Given the description of an element on the screen output the (x, y) to click on. 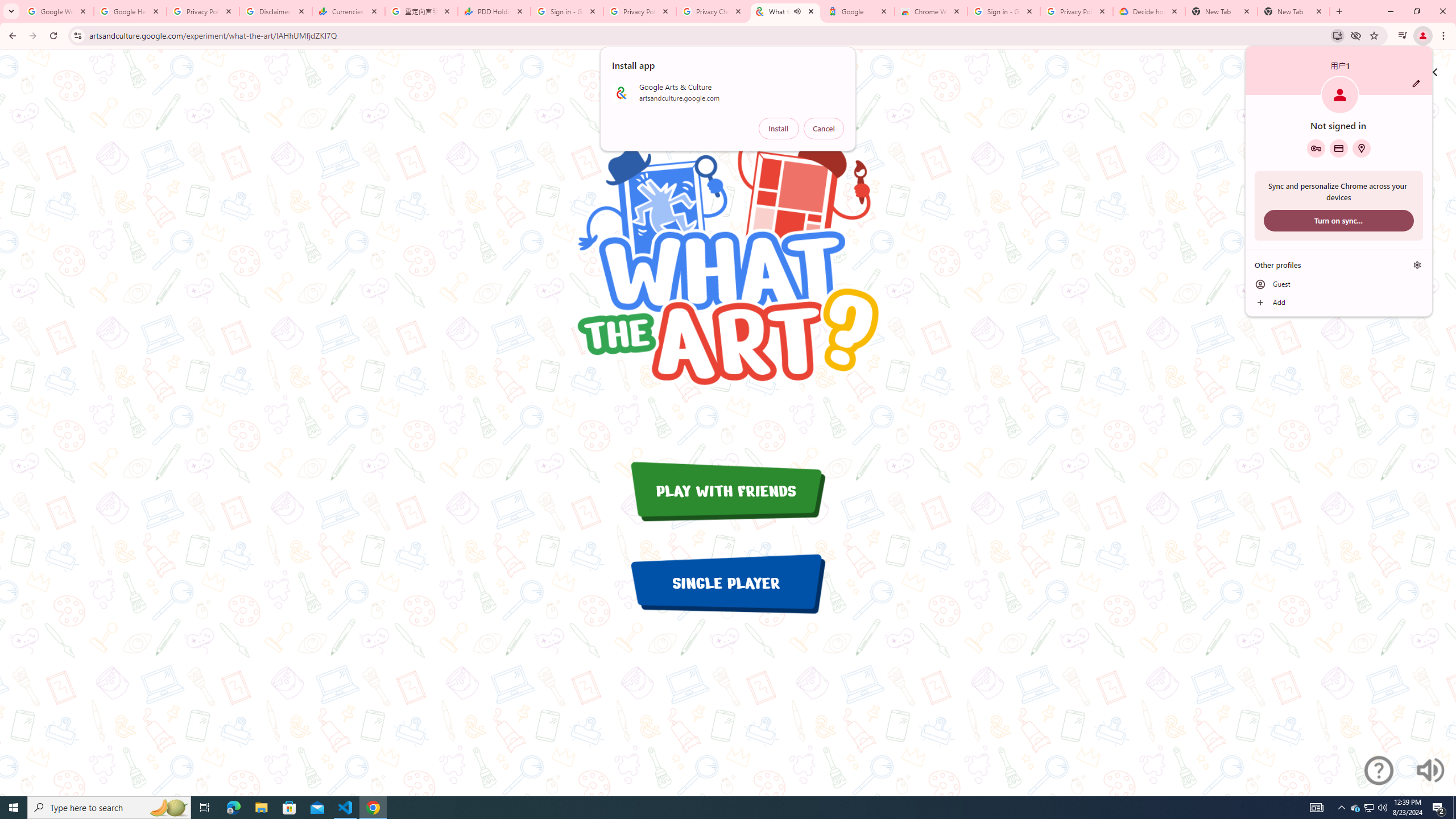
Guest (1338, 284)
AutomationID: 4105 (1316, 807)
Sign in - Google Accounts (1003, 11)
